Given the description of an element on the screen output the (x, y) to click on. 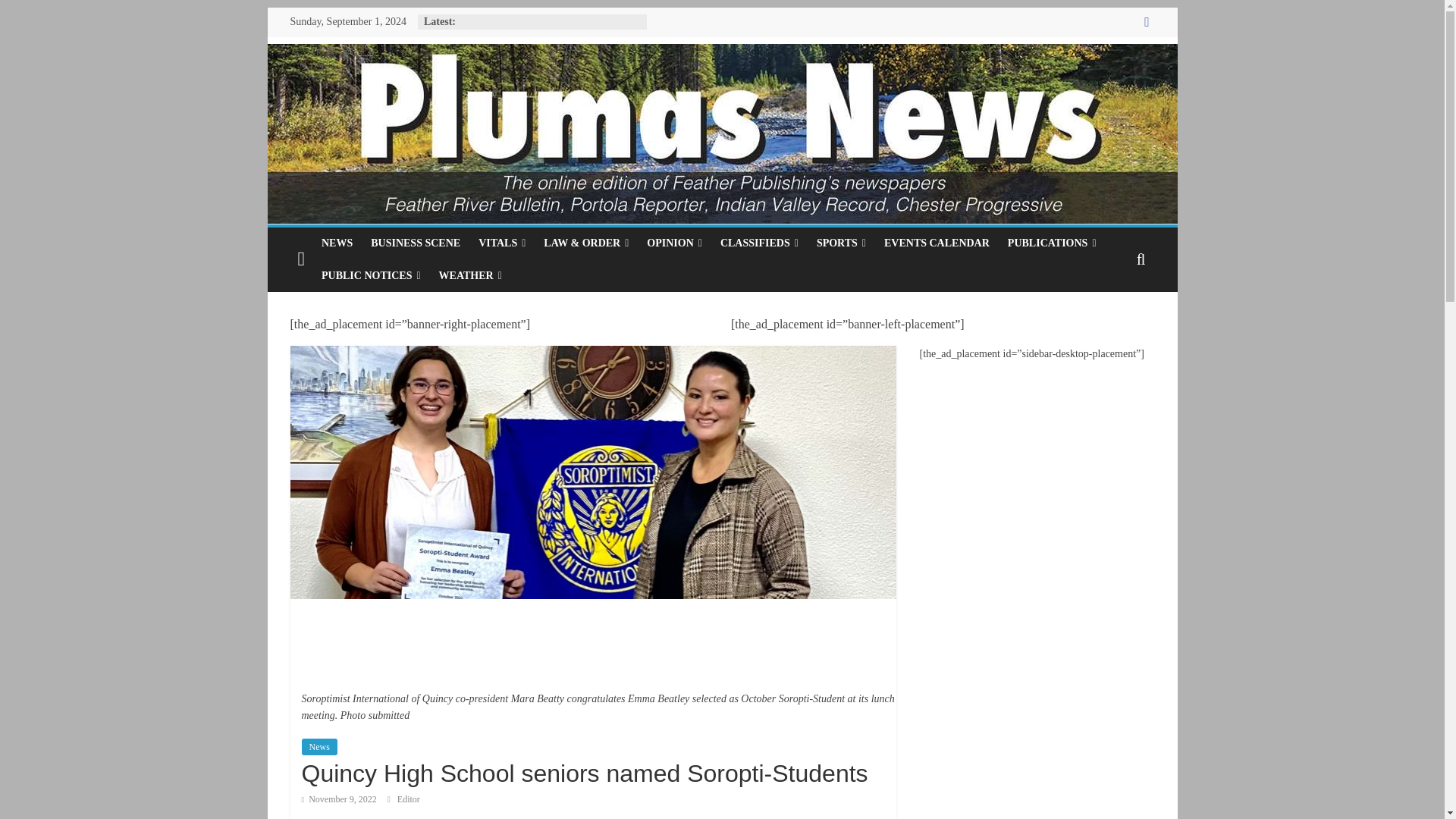
1:42 pm (339, 798)
Editor (408, 798)
SPORTS (841, 243)
BUSINESS SCENE (414, 243)
PUBLICATIONS (1051, 243)
EVENTS CALENDAR (936, 243)
VITALS (501, 243)
NEWS (337, 243)
OPINION (674, 243)
